Given the description of an element on the screen output the (x, y) to click on. 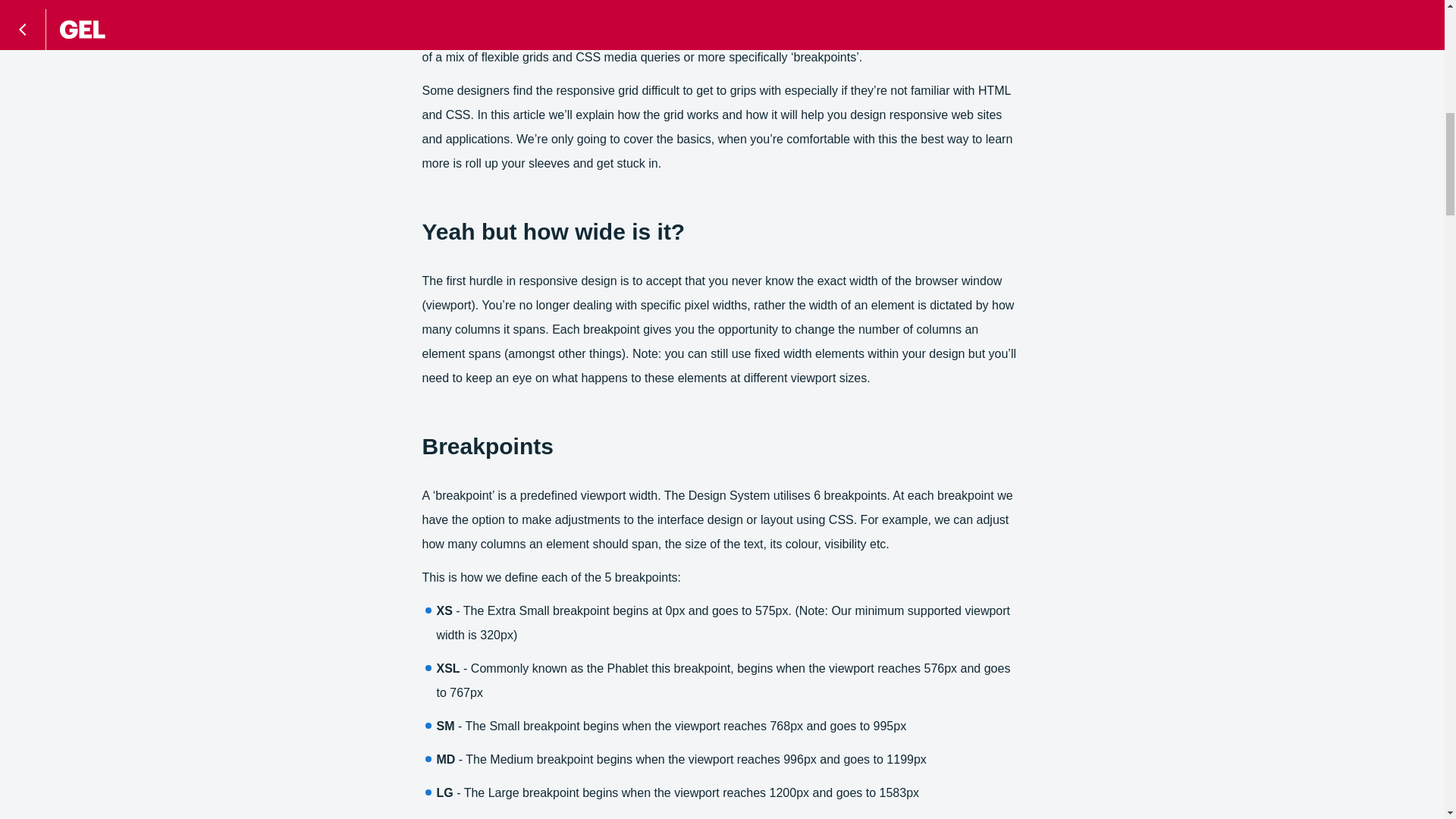
Top (1398, 18)
